Given the description of an element on the screen output the (x, y) to click on. 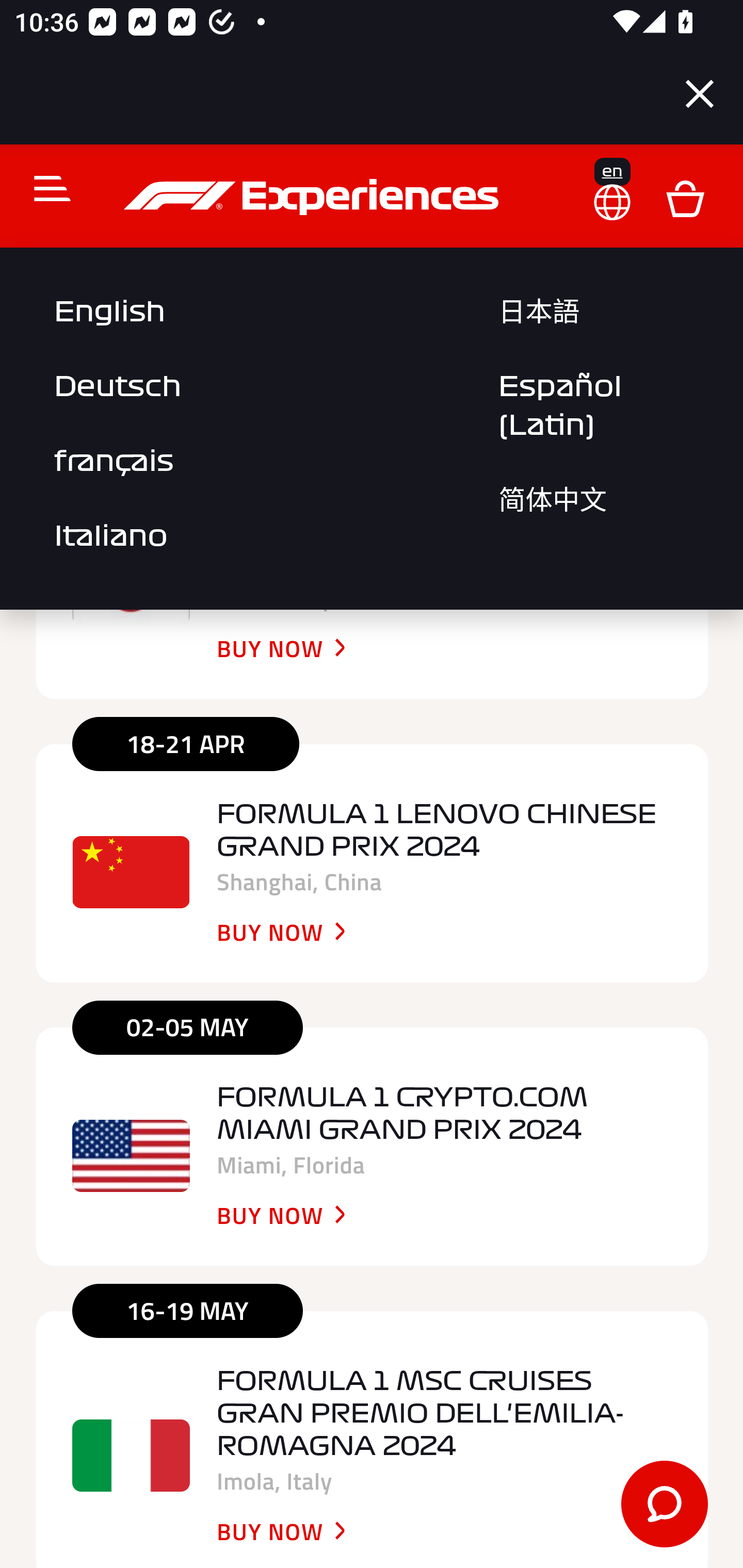
Close (699, 93)
Toggle navigation C (43, 190)
D (684, 198)
f1experiences (313, 198)
